Given the description of an element on the screen output the (x, y) to click on. 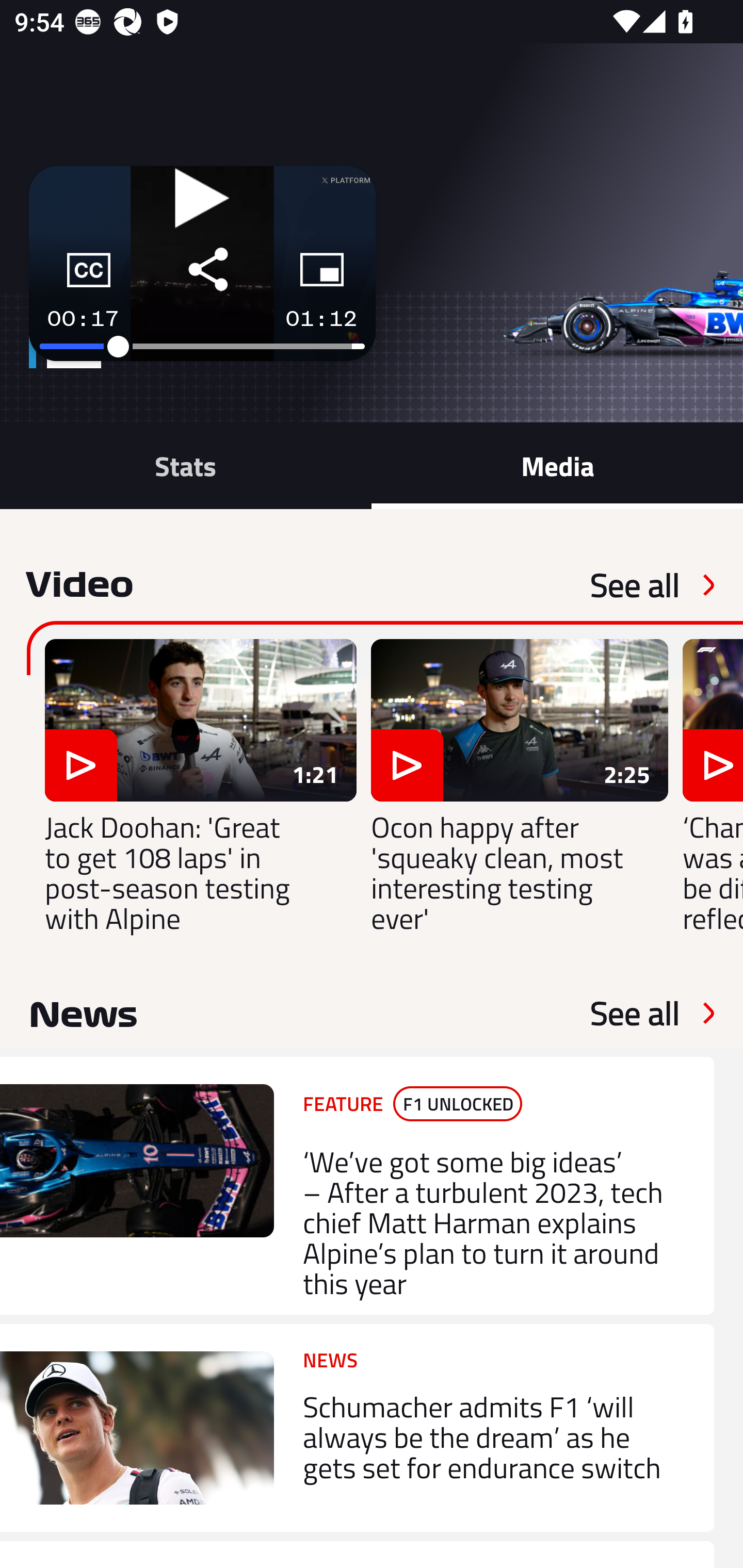
Stats (185, 465)
See all (634, 584)
See all (634, 1012)
